Given the description of an element on the screen output the (x, y) to click on. 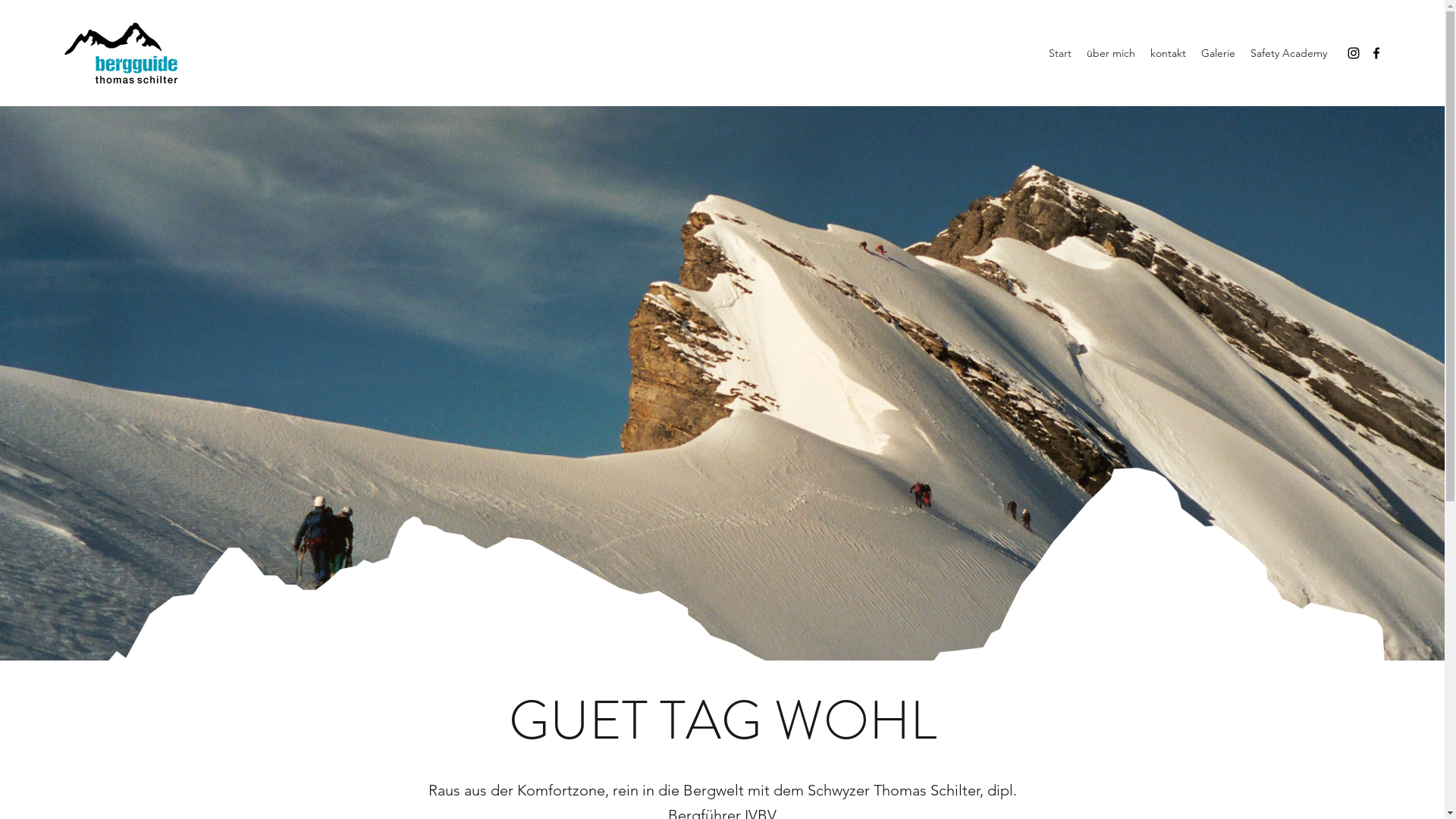
Safety Academy Element type: text (1288, 52)
Start Element type: text (1060, 52)
Galerie Element type: text (1217, 52)
kontakt Element type: text (1167, 52)
